Given the description of an element on the screen output the (x, y) to click on. 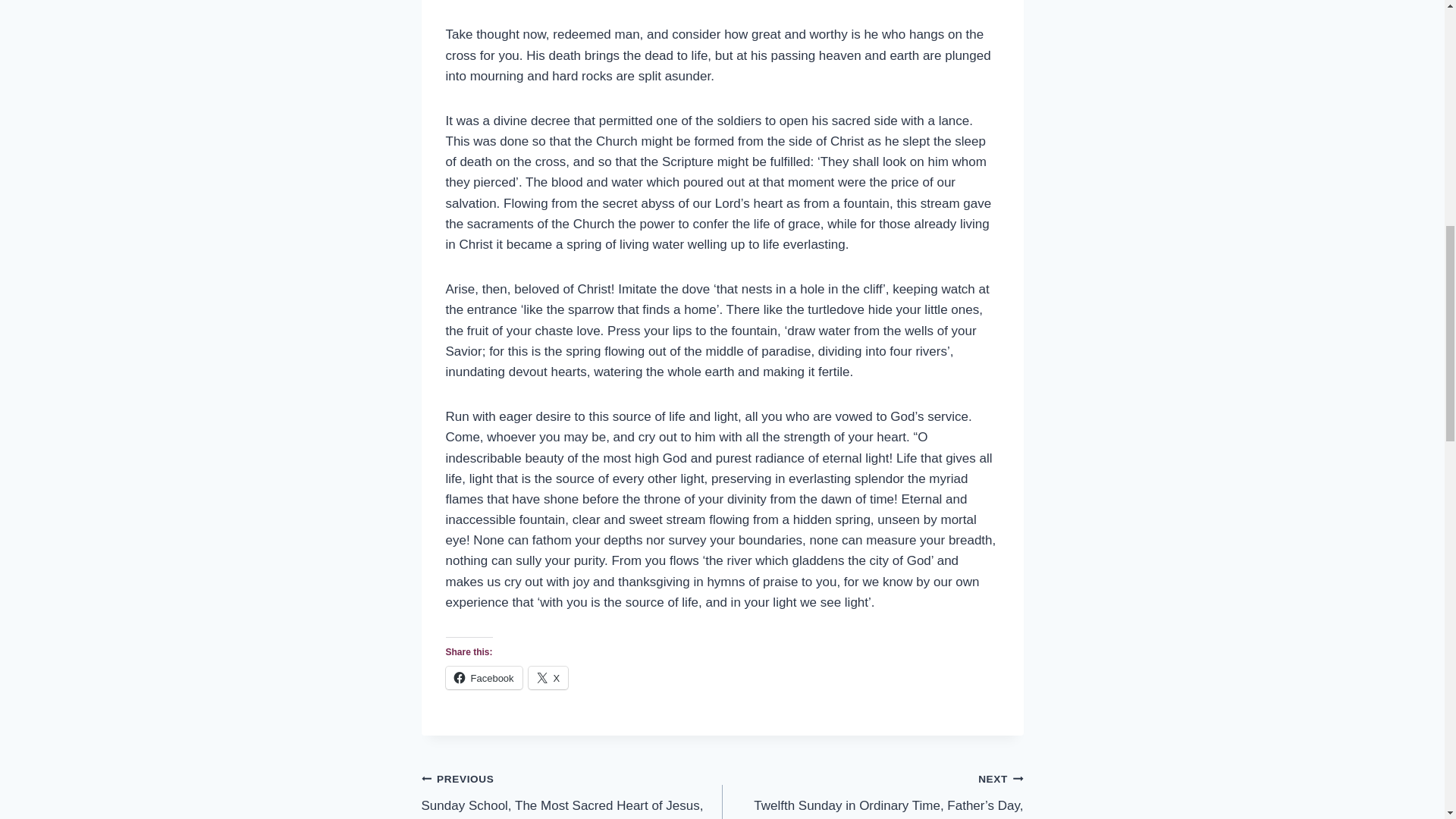
Click to share on Facebook (483, 677)
Click to share on X (548, 677)
Facebook (483, 677)
X (548, 677)
